Given the description of an element on the screen output the (x, y) to click on. 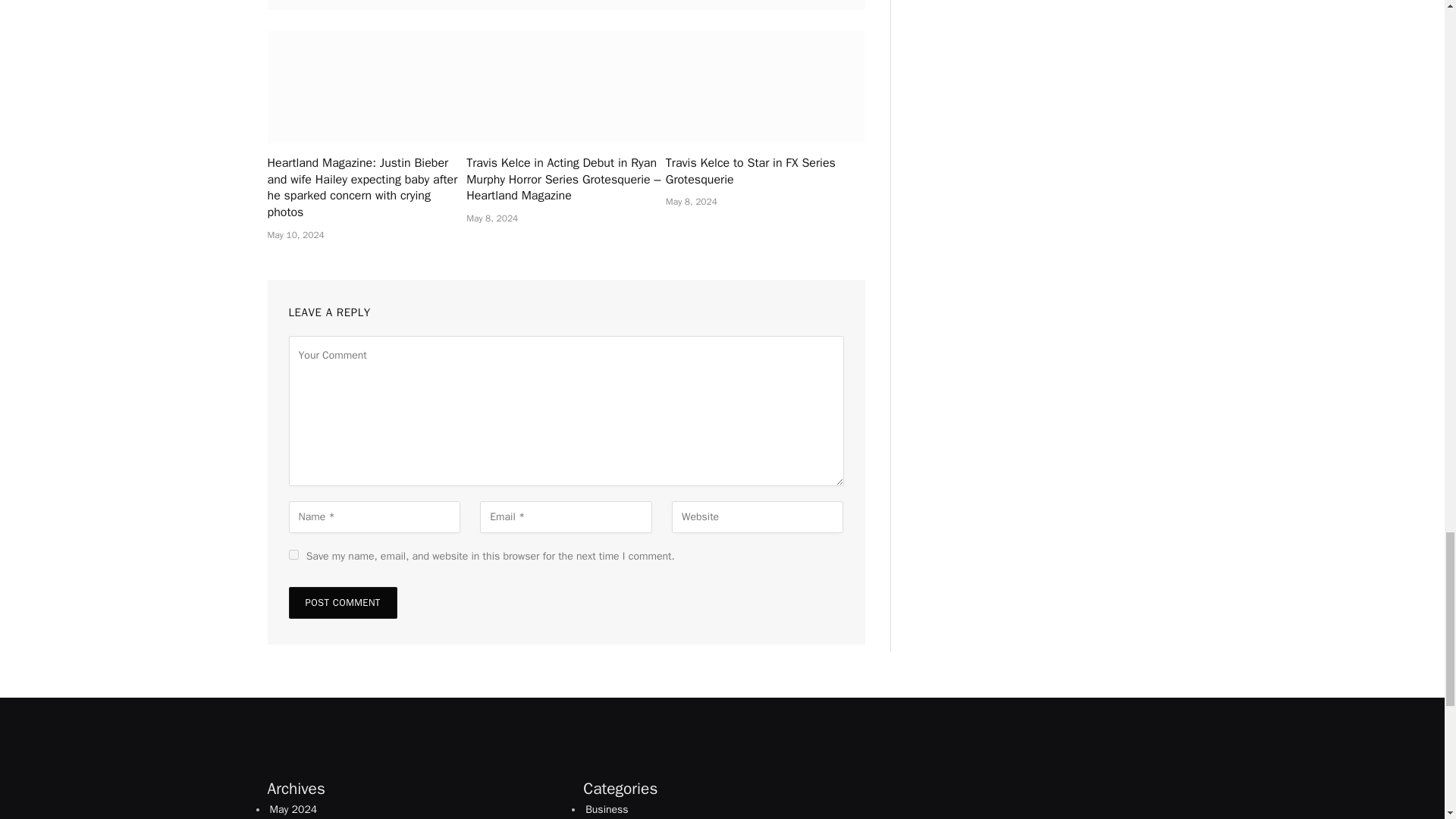
yes (293, 554)
Post Comment (342, 603)
